Given the description of an element on the screen output the (x, y) to click on. 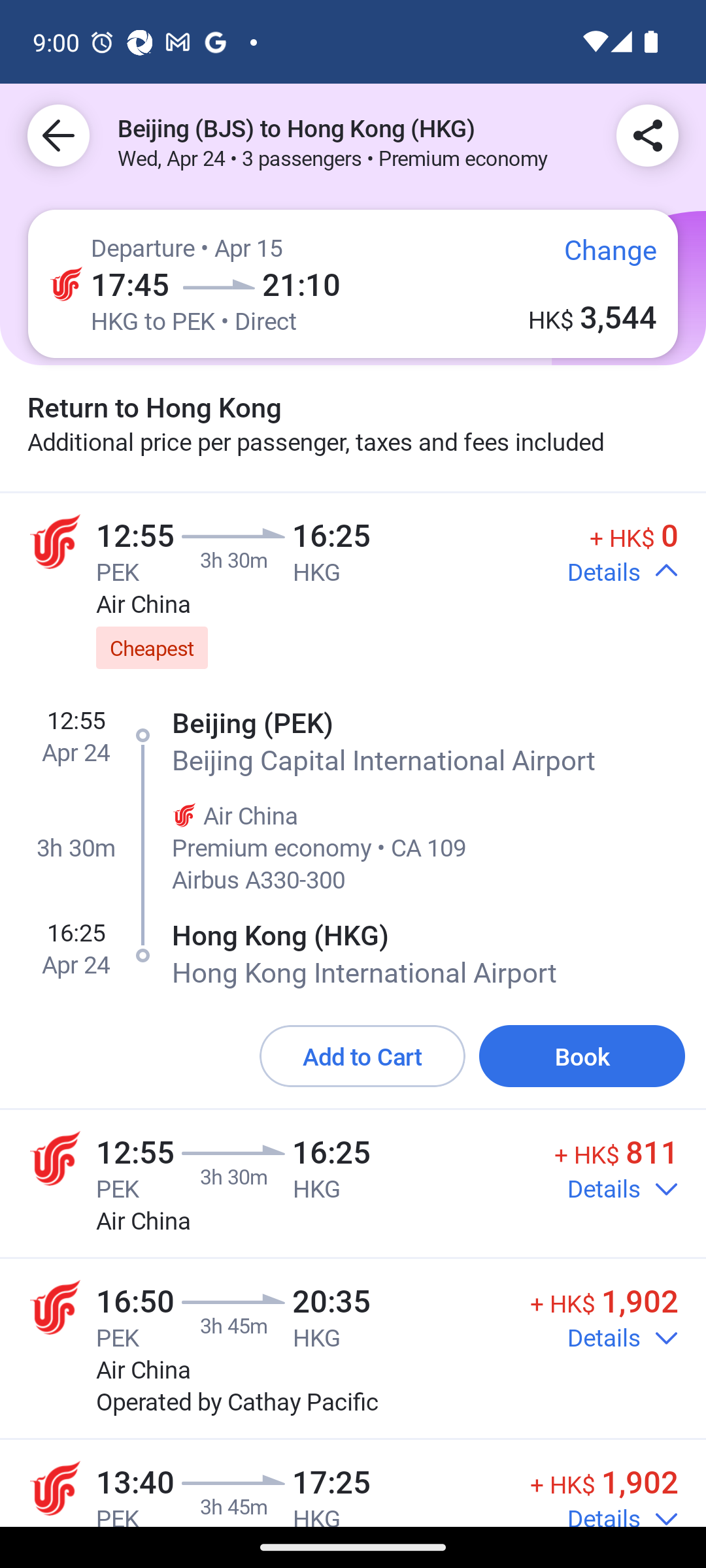
Change (596, 257)
Add to Cart (362, 1056)
Book (581, 1056)
